Given the description of an element on the screen output the (x, y) to click on. 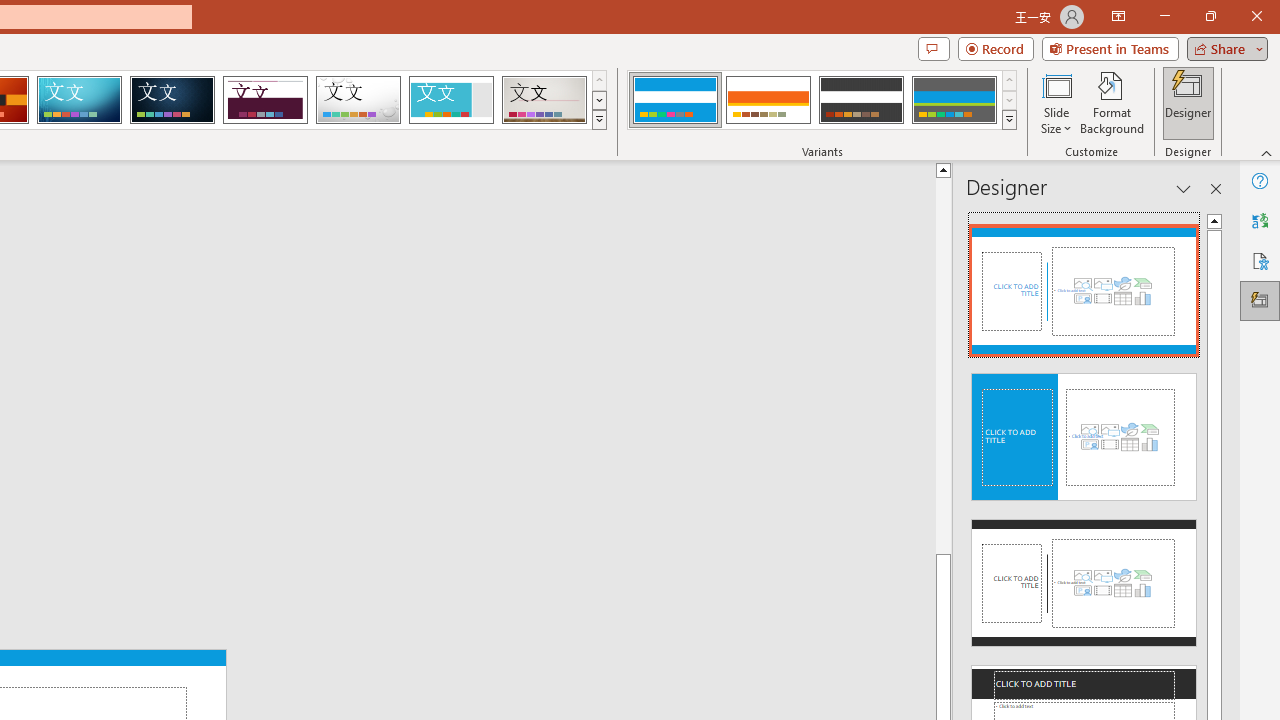
Recommended Design: Design Idea (1083, 284)
Design Idea (1083, 576)
Banded Variant 3 (861, 100)
Circuit (79, 100)
Variants (1009, 120)
Banded Variant 2 (768, 100)
Gallery (544, 100)
Damask (171, 100)
